Given the description of an element on the screen output the (x, y) to click on. 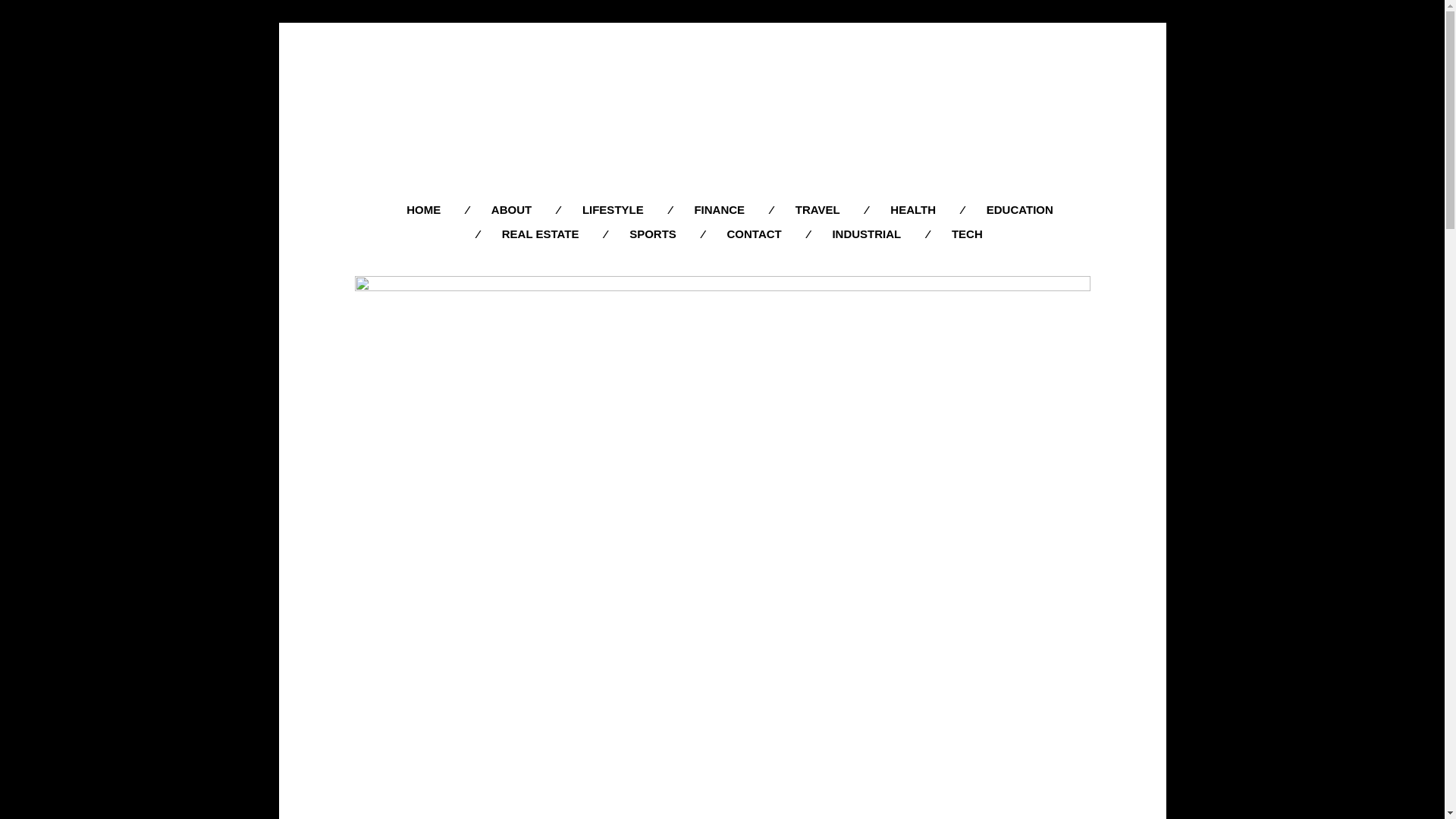
FINANCE (718, 209)
TECH (967, 233)
TRAVEL (817, 209)
CONTACT (754, 233)
HEALTH (913, 209)
REAL ESTATE (540, 233)
Home (721, 109)
LIFESTYLE (612, 209)
SPORTS (652, 233)
EDUCATION (1019, 209)
SKIP TO CONTENT (733, 200)
ABOUT (511, 209)
HOME (422, 209)
INDUSTRIAL (866, 233)
